Given the description of an element on the screen output the (x, y) to click on. 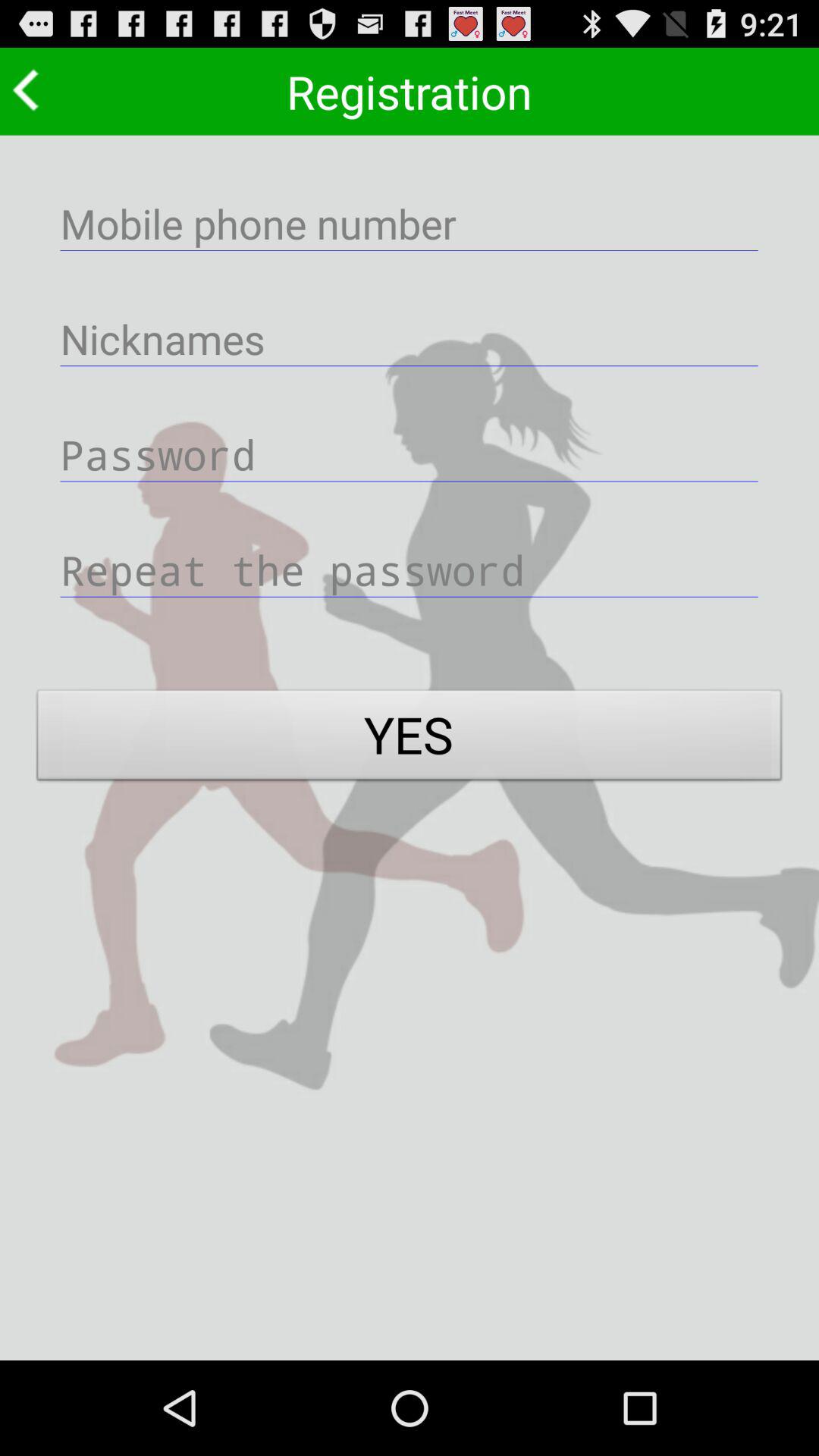
password (409, 453)
